Given the description of an element on the screen output the (x, y) to click on. 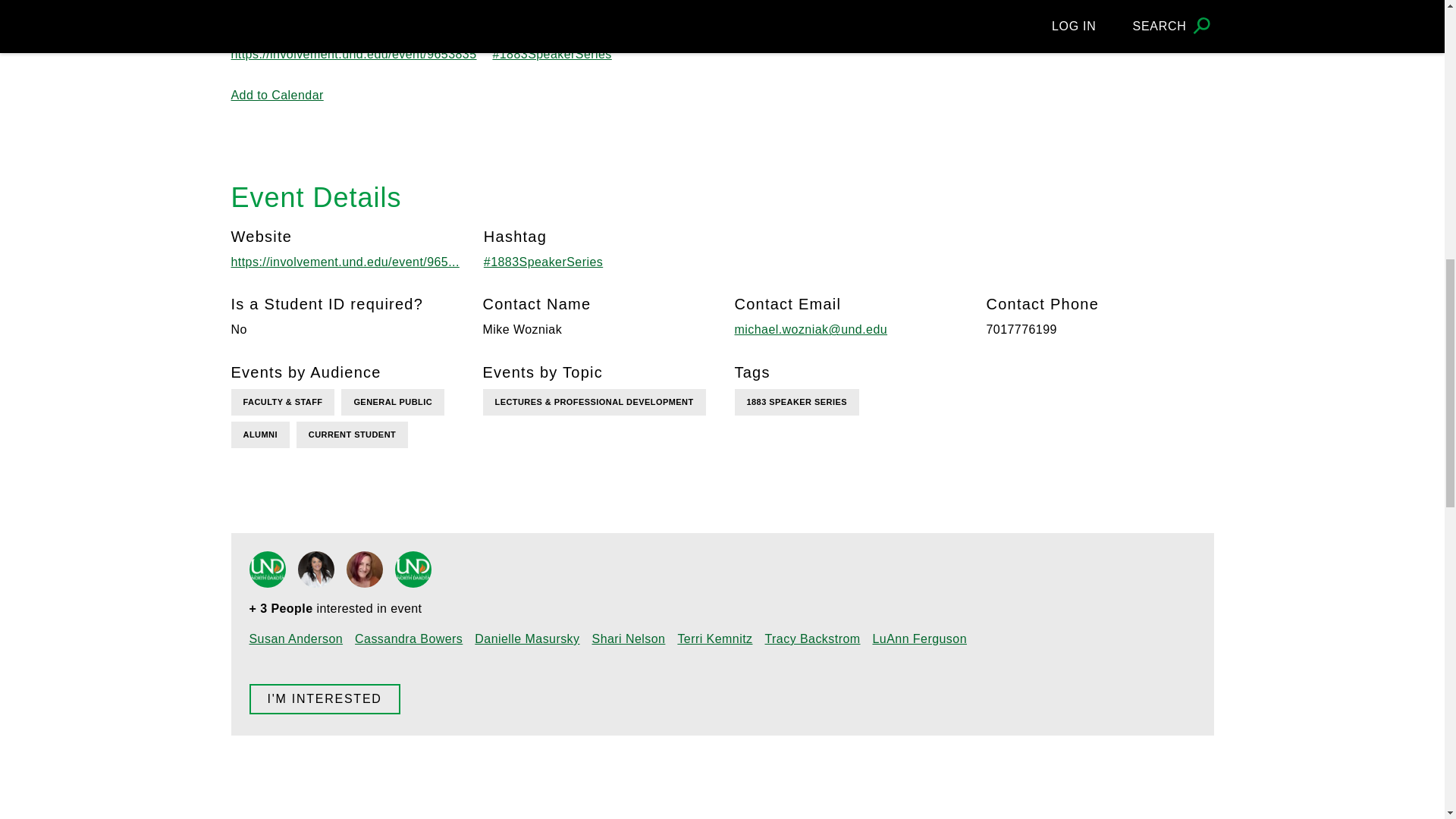
CURRENT STUDENT (352, 434)
1883 SPEAKER SERIES (796, 402)
GENERAL PUBLIC (392, 402)
ALUMNI (259, 434)
Shari Nelson (412, 569)
Add to Calendar (276, 94)
Danielle Masursky (363, 569)
Susan Anderson (266, 569)
Cassandra Bowers (315, 569)
